Given the description of an element on the screen output the (x, y) to click on. 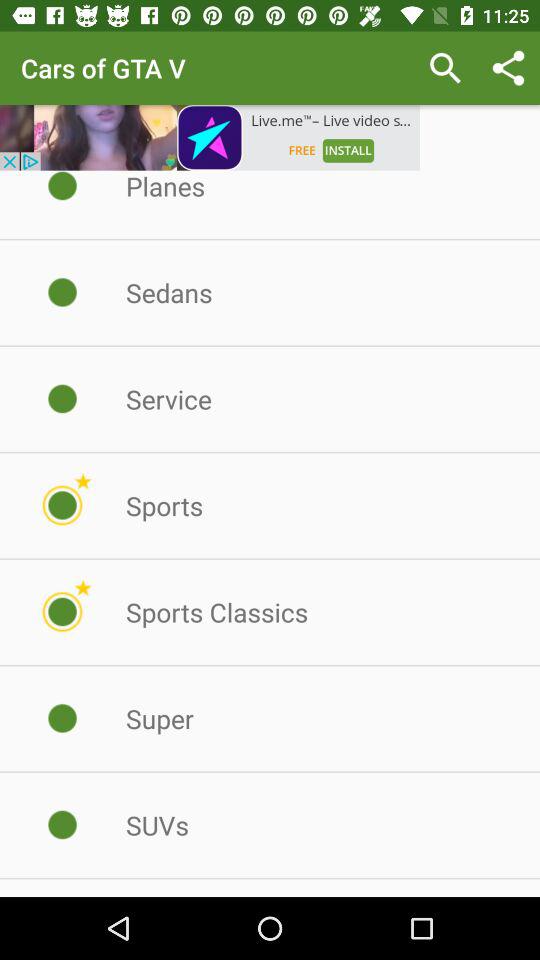
go to advertainment (210, 137)
